Given the description of an element on the screen output the (x, y) to click on. 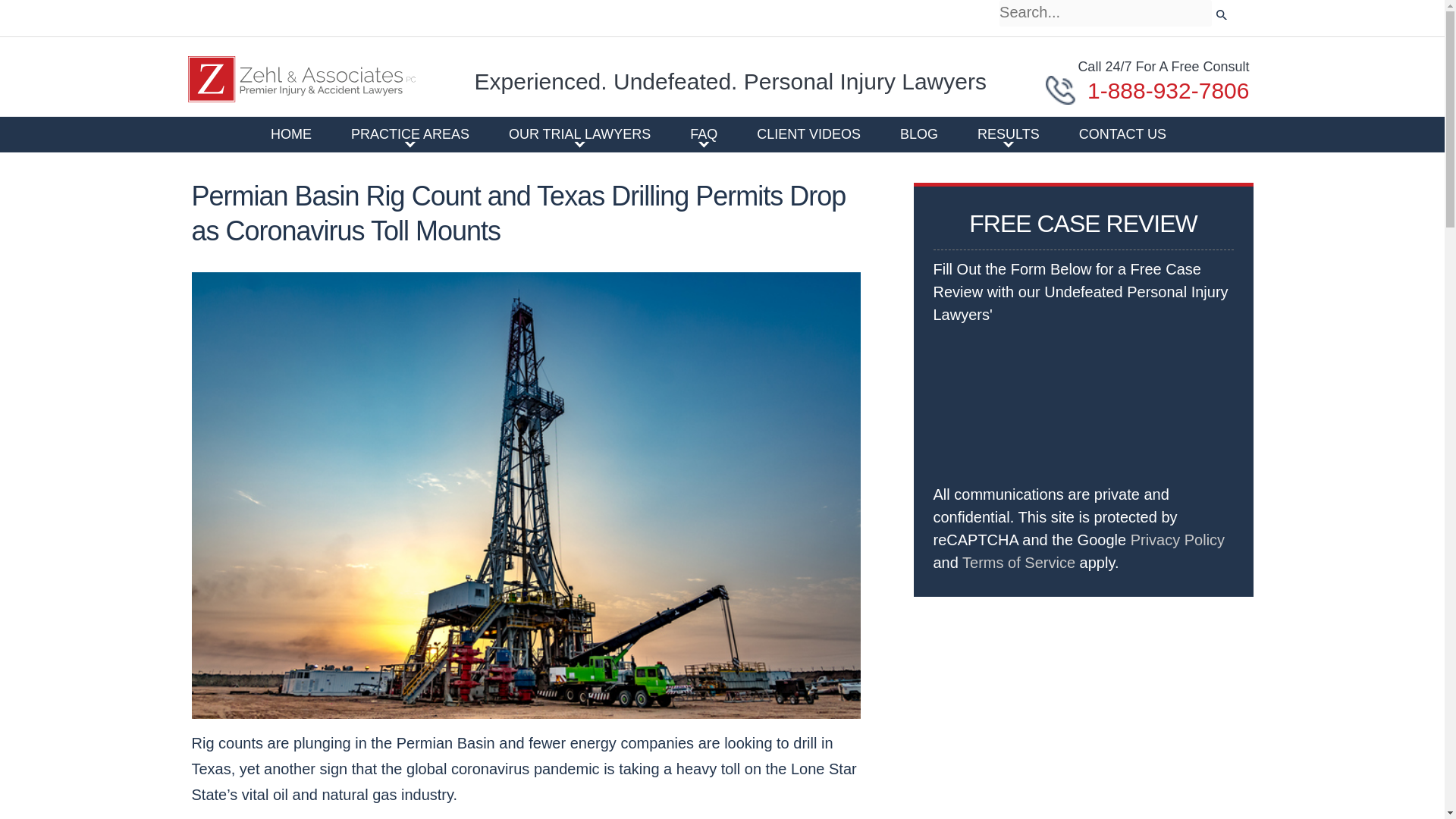
1-888-932-7806 (1147, 91)
OUR TRIAL LAWYERS (579, 133)
PRACTICE AREAS (409, 133)
HOME (290, 133)
